Given the description of an element on the screen output the (x, y) to click on. 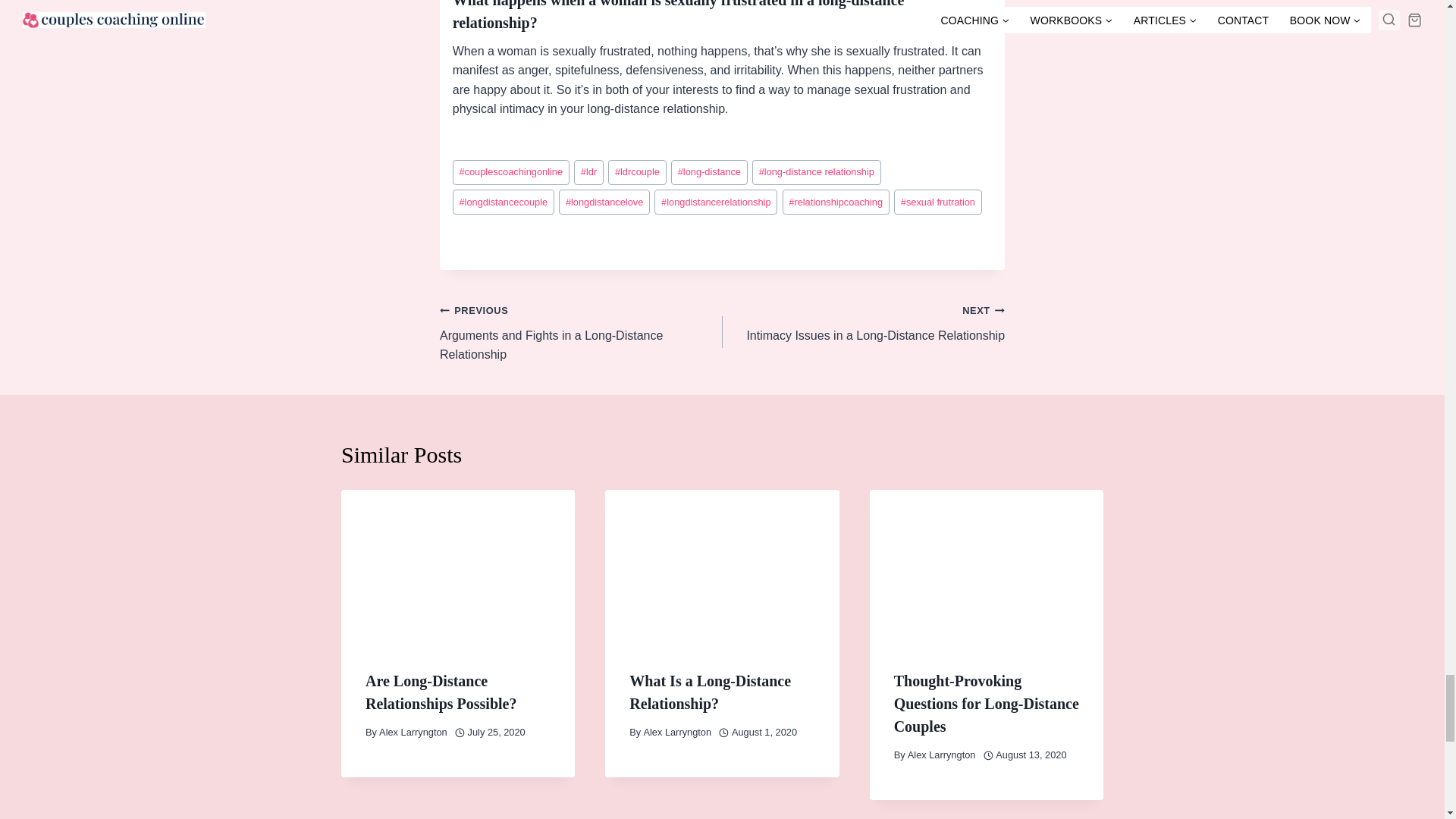
ldrcouple (636, 172)
ldr (588, 172)
couplescoachingonline (510, 172)
long-distance (709, 172)
